Given the description of an element on the screen output the (x, y) to click on. 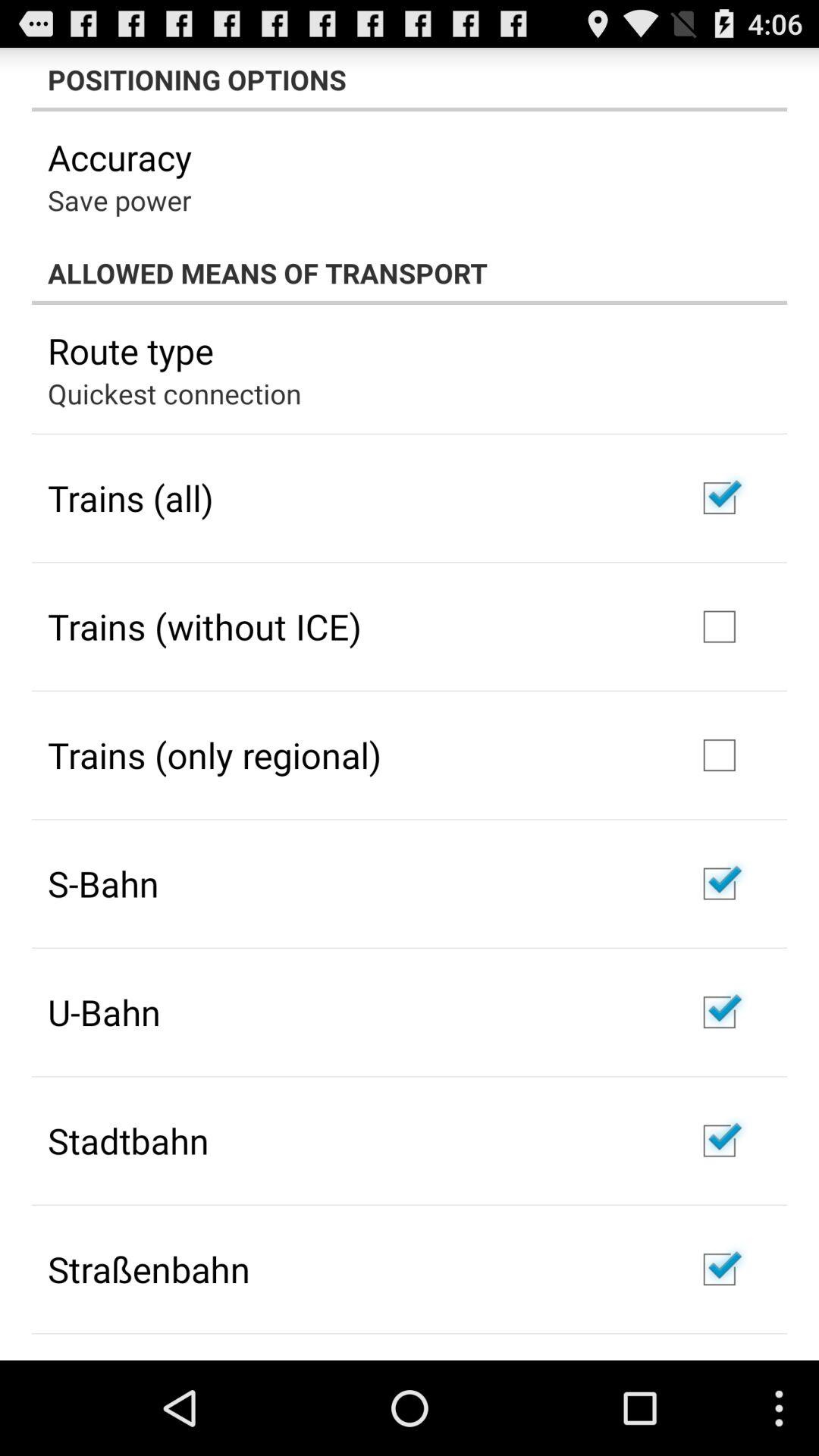
flip to positioning options icon (409, 79)
